Given the description of an element on the screen output the (x, y) to click on. 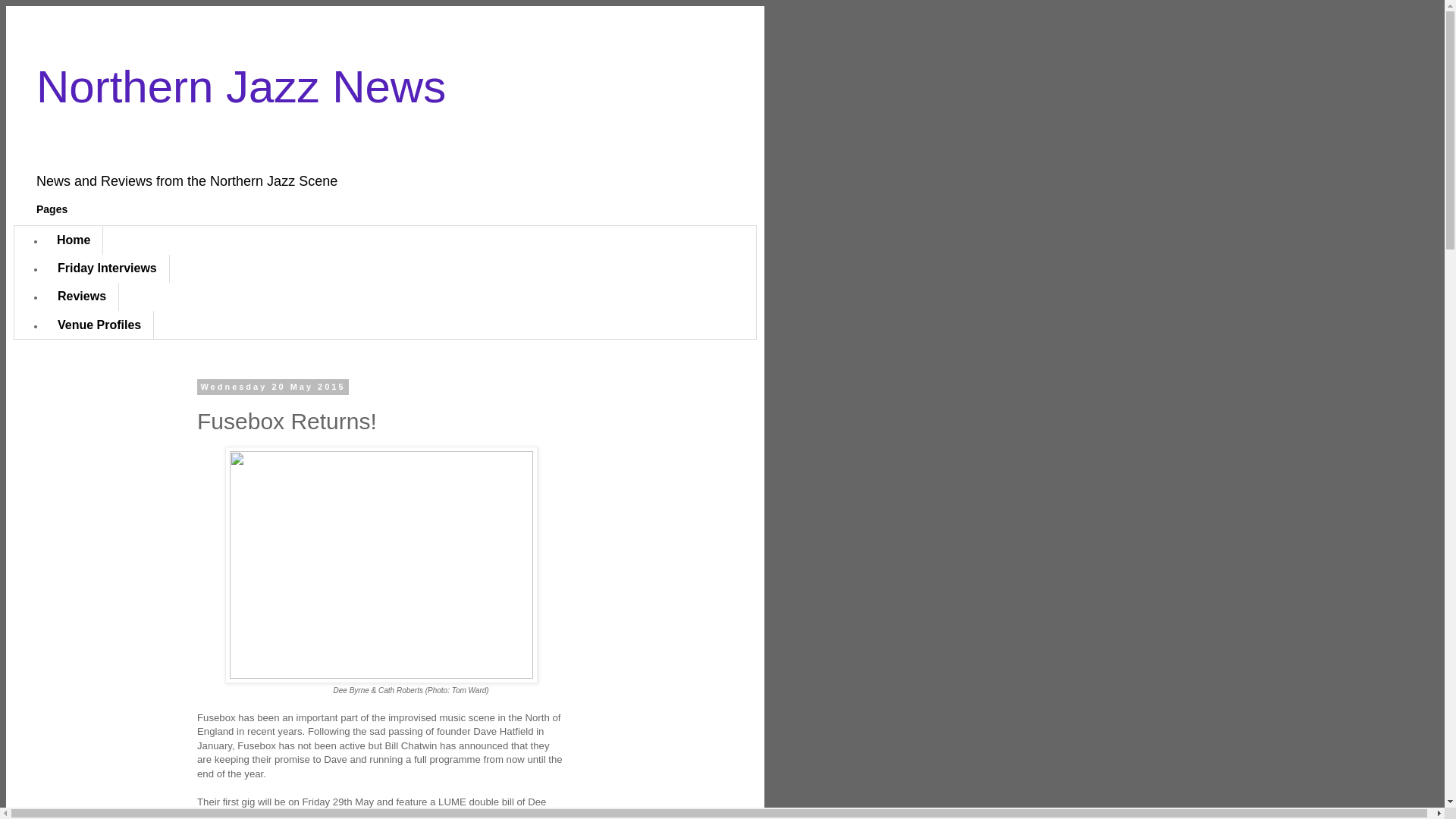
Northern Jazz News (240, 86)
Reviews (82, 296)
Home (74, 239)
Friday Interviews (107, 268)
Venue Profiles (99, 325)
